Given the description of an element on the screen output the (x, y) to click on. 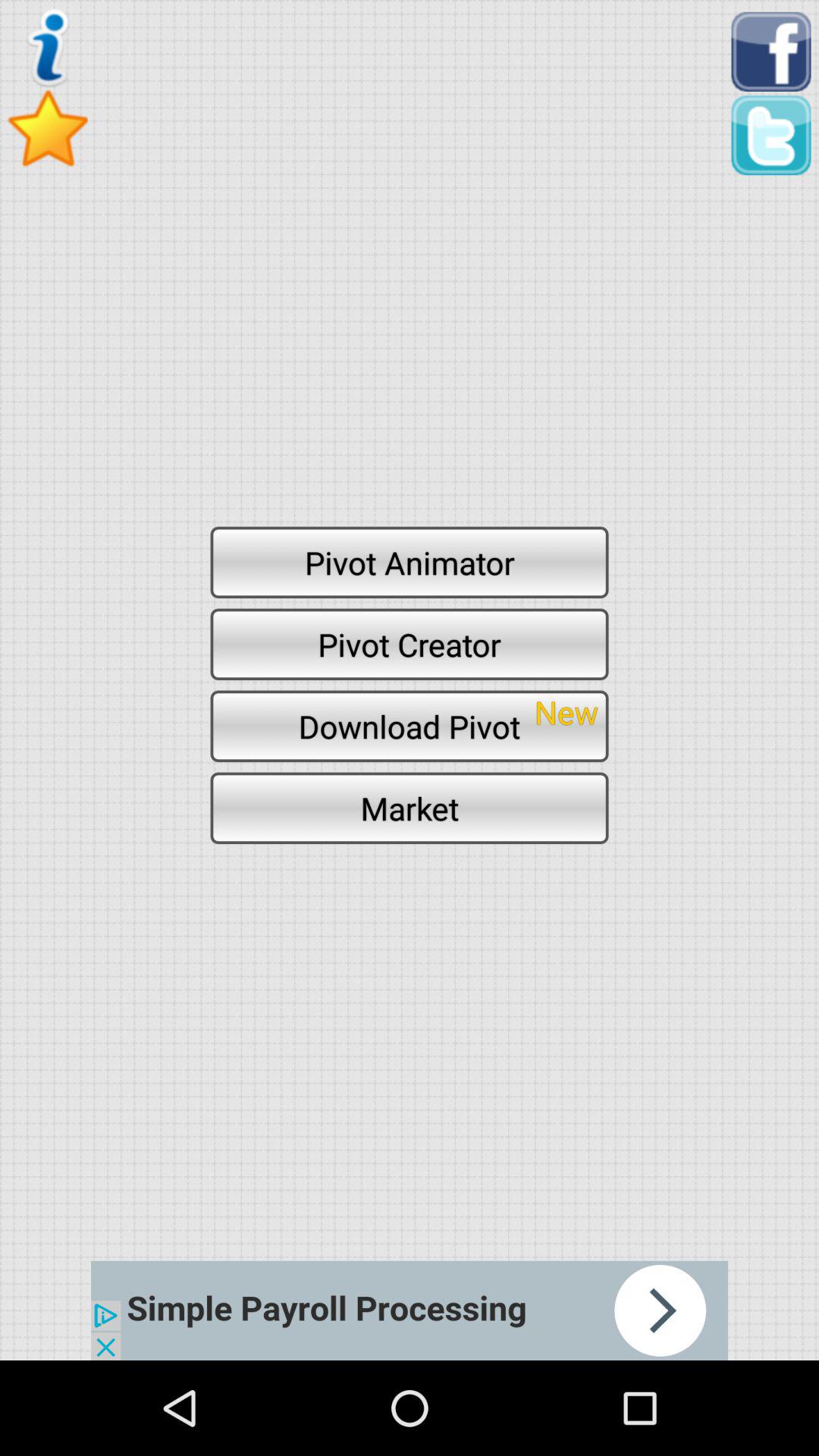
turn off item below the market item (409, 1310)
